Given the description of an element on the screen output the (x, y) to click on. 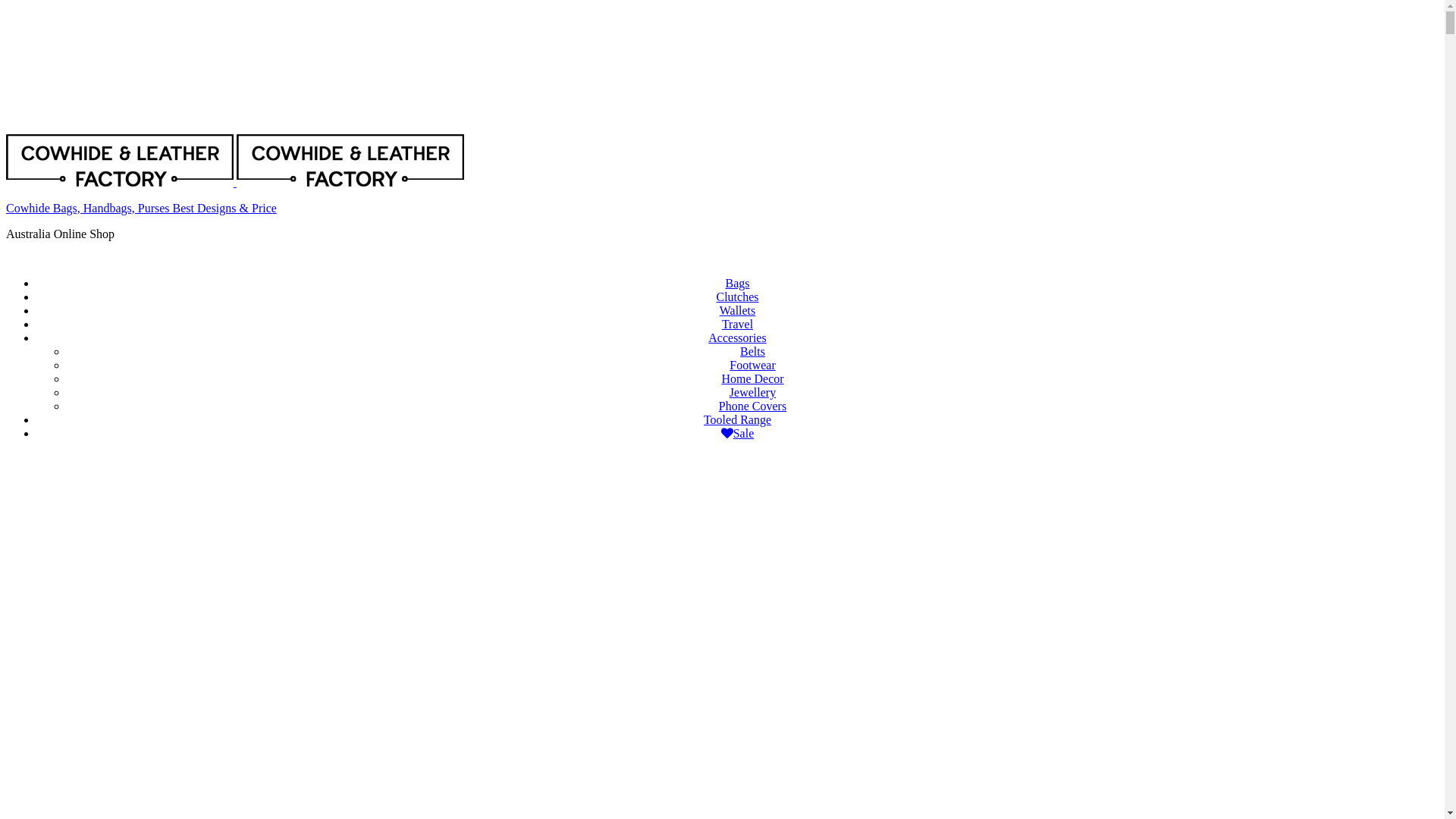
Belts Element type: text (752, 351)
Phone Covers Element type: text (752, 405)
Tooled Range Element type: text (737, 419)
Clutches Element type: text (736, 296)
Accessories Element type: text (736, 337)
Travel Element type: text (737, 323)
Jewellery Element type: text (752, 391)
Home Decor Element type: text (752, 378)
Sale Element type: text (737, 432)
Footwear Element type: text (752, 364)
Bags Element type: text (736, 282)
Wallets Element type: text (737, 310)
Cowhide Bags, Handbags, Purses Best Designs & Price Element type: text (141, 207)
